Given the description of an element on the screen output the (x, y) to click on. 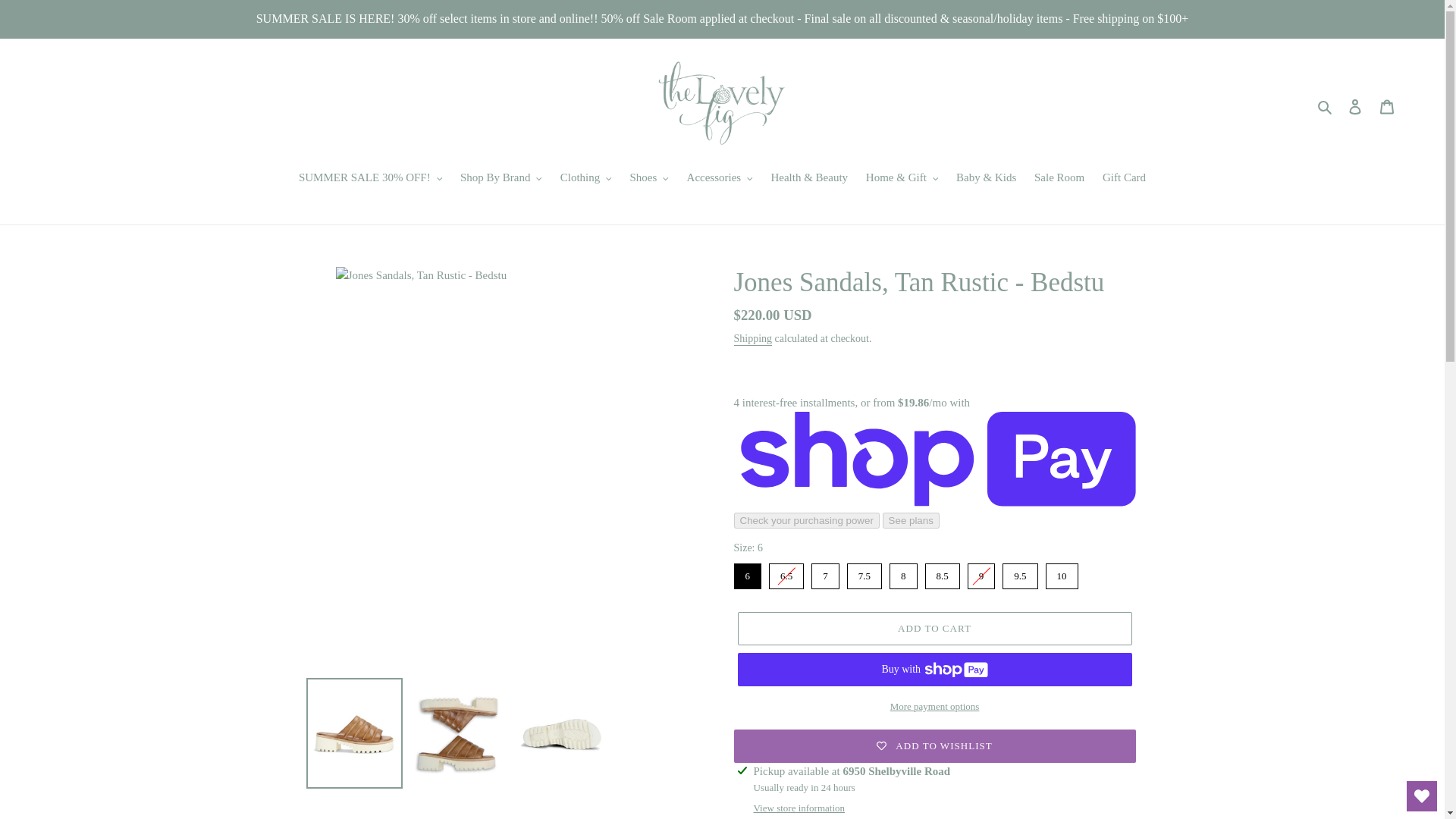
Log in (1355, 105)
Search (1326, 105)
Cart (1387, 105)
